Given the description of an element on the screen output the (x, y) to click on. 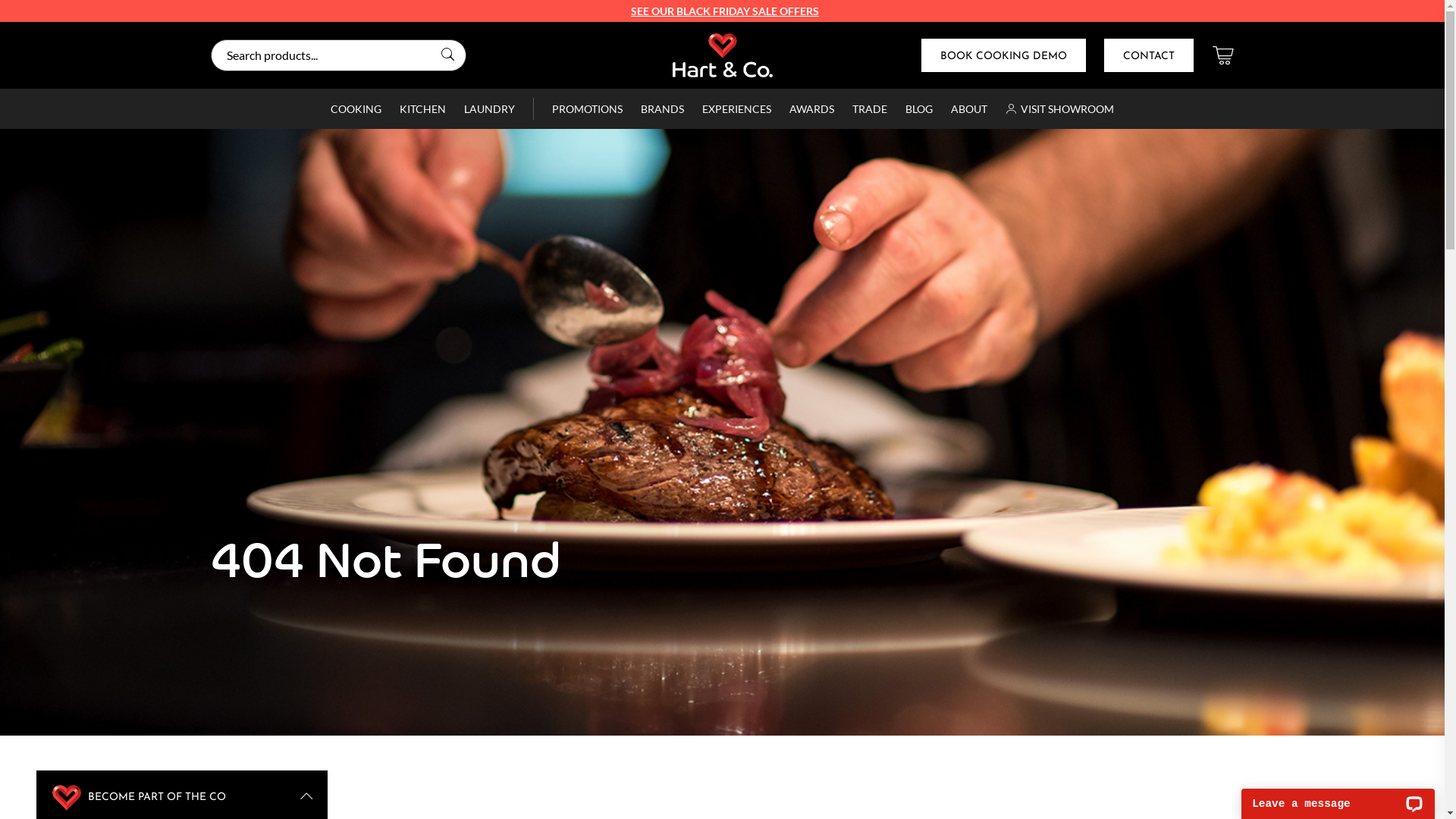
COOKING Element type: text (355, 108)
SEE OUR BLACK FRIDAY SALE OFFERS Element type: text (724, 10)
ABOUT Element type: text (968, 108)
BLOG Element type: text (918, 108)
VISIT SHOWROOM Element type: text (1059, 108)
AWARDS Element type: text (811, 108)
KITCHEN Element type: text (422, 108)
CONTACT Element type: text (1148, 55)
EXPERIENCES Element type: text (736, 108)
PROMOTIONS Element type: text (587, 108)
BOOK COOKING DEMO Element type: text (1002, 55)
TRADE Element type: text (869, 108)
LAUNDRY Element type: text (489, 108)
BRANDS Element type: text (662, 108)
